Given the description of an element on the screen output the (x, y) to click on. 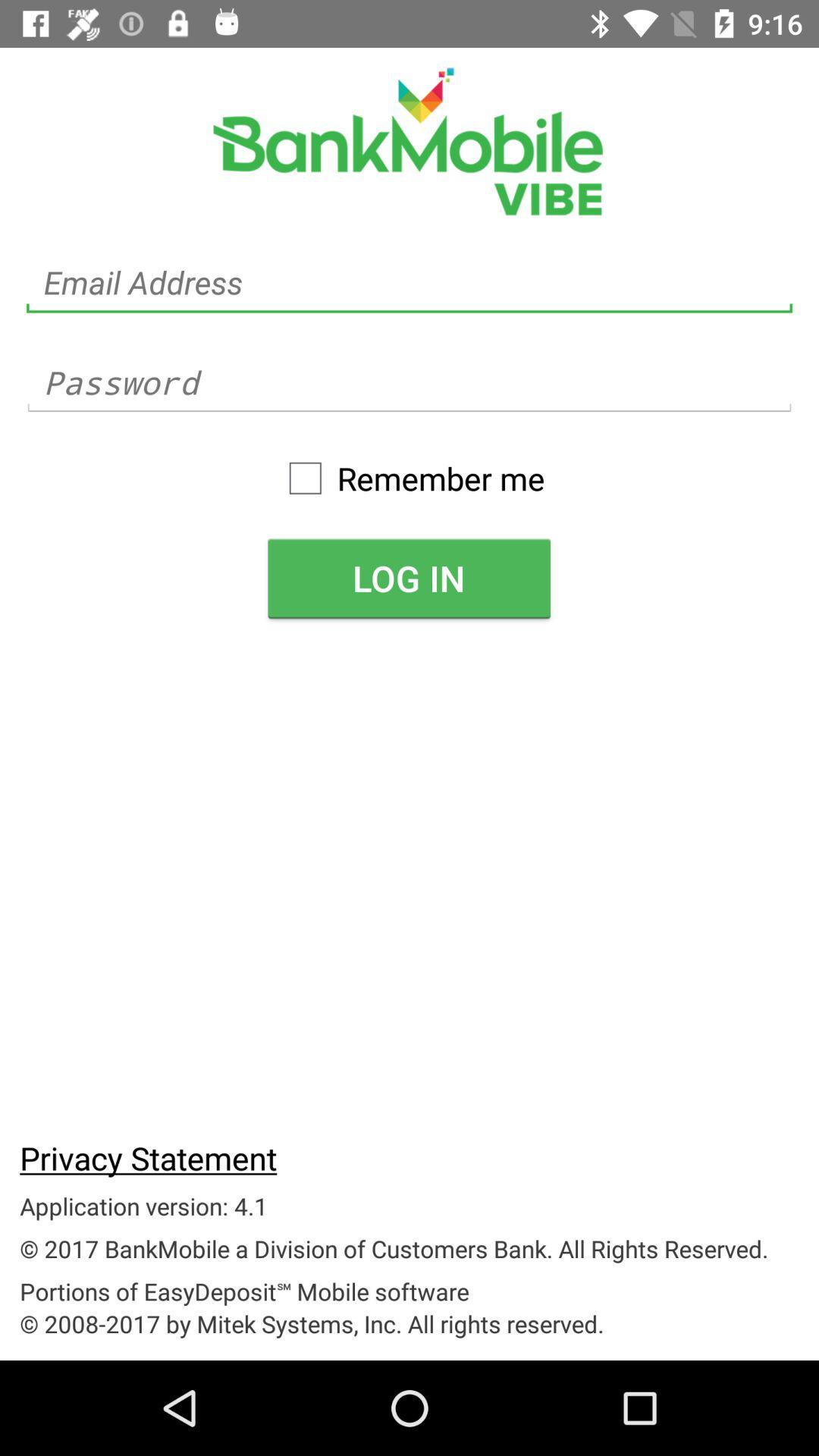
press icon above log in item (408, 478)
